Given the description of an element on the screen output the (x, y) to click on. 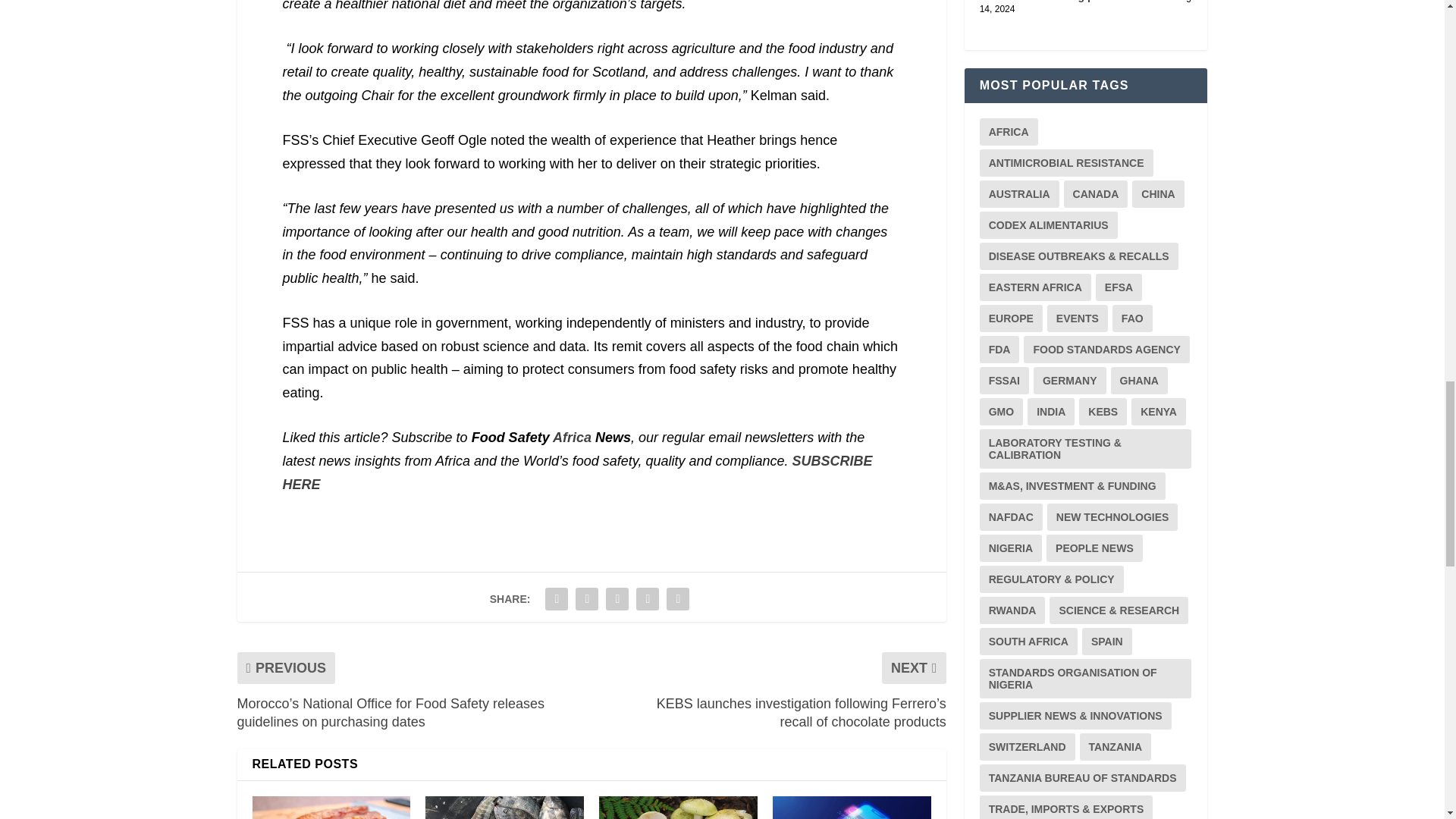
Africa (572, 437)
